Given the description of an element on the screen output the (x, y) to click on. 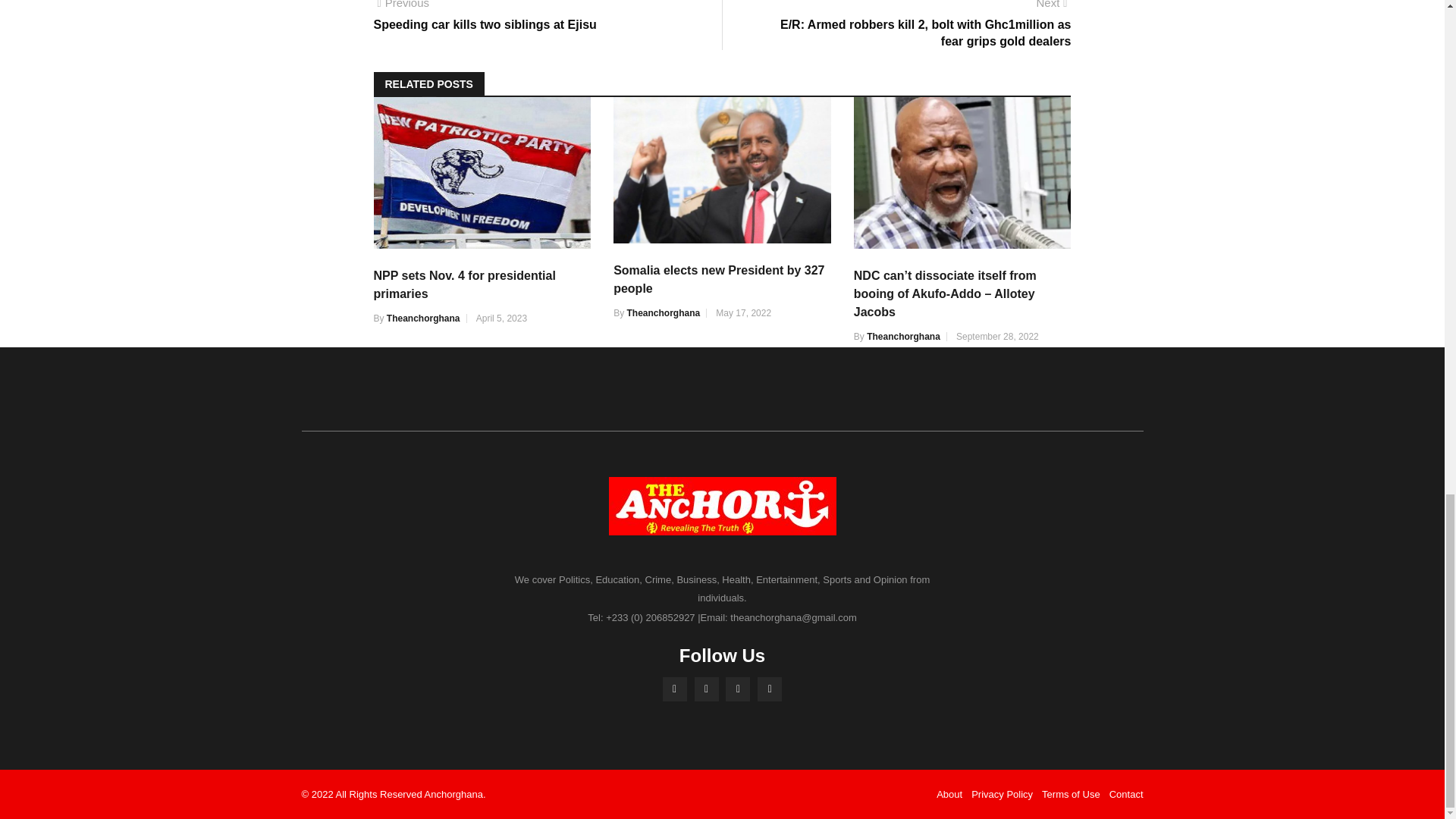
Theanchorghana (423, 317)
Posts by theanchorghana (423, 317)
Somalia elects new President by 327 people (718, 278)
Theanchorghana (903, 336)
Theanchorghana (663, 312)
NPP sets Nov. 4 for presidential primaries (463, 284)
Posts by theanchorghana (663, 312)
Posts by theanchorghana (903, 336)
